Given the description of an element on the screen output the (x, y) to click on. 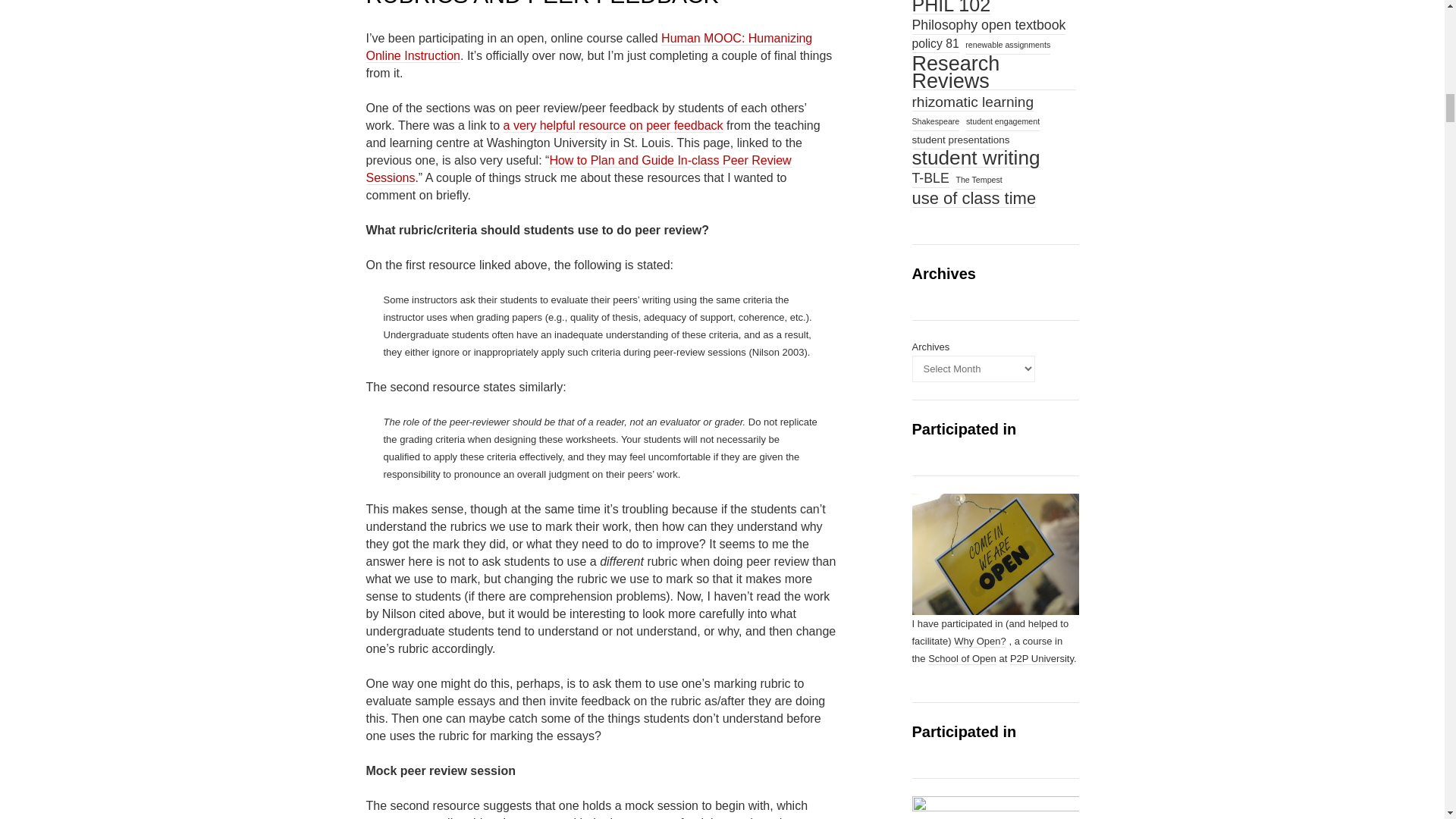
Human MOOC: Humanizing Online Instruction (588, 47)
Using Peer Review to help students improve writing (613, 125)
How to Plan and Guide In-class Peer Review Sessions (577, 169)
RUBRICS AND PEER FEEDBACK (541, 3)
a very helpful resource on peer feedback (613, 125)
